Given the description of an element on the screen output the (x, y) to click on. 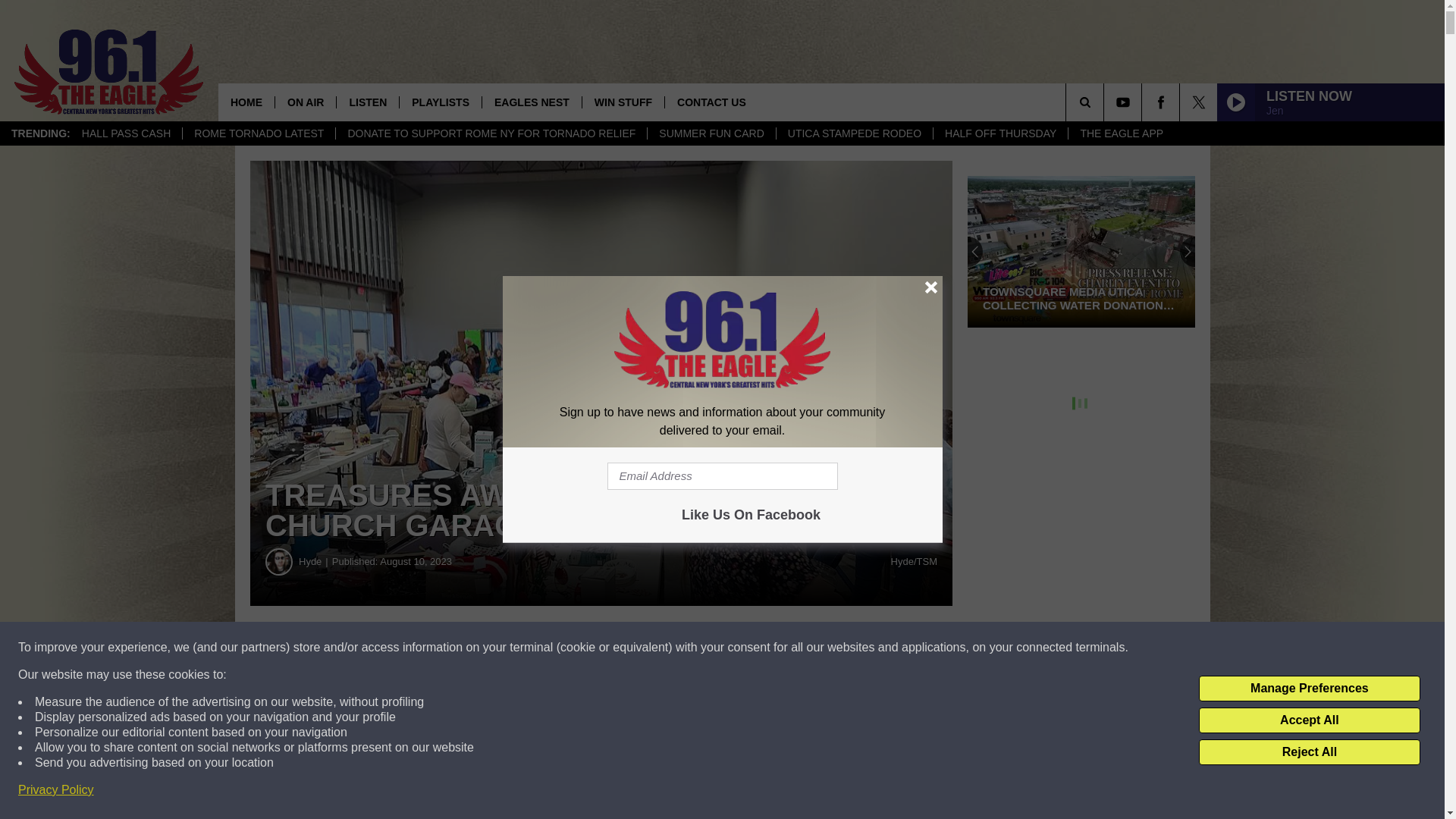
UTICA STAMPEDE RODEO (854, 133)
PLAYLISTS (439, 102)
DONATE TO SUPPORT ROME NY FOR TORNADO RELIEF (490, 133)
Share on Facebook (460, 647)
CONTACT US (710, 102)
ON AIR (305, 102)
Reject All (1309, 751)
Manage Preferences (1309, 688)
LISTEN (367, 102)
Share on Twitter (741, 647)
HOME (246, 102)
EAGLES NEST (530, 102)
HALF OFF THURSDAY (1000, 133)
HALL PASS CASH (126, 133)
SEARCH (1106, 102)
